Given the description of an element on the screen output the (x, y) to click on. 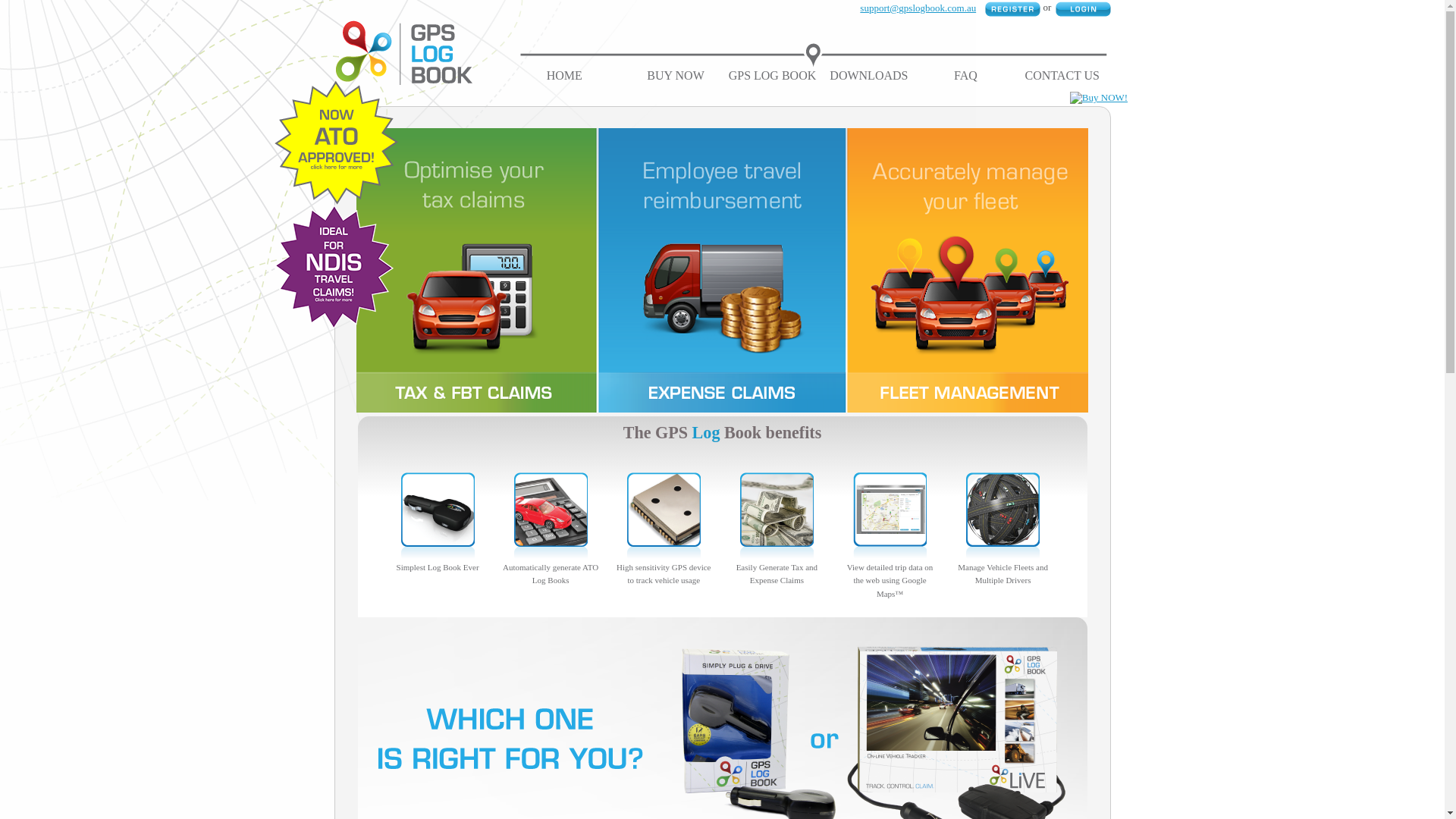
GPS LOG BOOK Element type: text (772, 75)
BUY NOW Element type: text (674, 75)
FAQ Element type: text (965, 75)
support@gpslogbook.com.au Element type: text (917, 7)
HOME Element type: text (564, 75)
CONTACT US Element type: text (1062, 75)
DOWNLOADS Element type: text (868, 75)
